Given the description of an element on the screen output the (x, y) to click on. 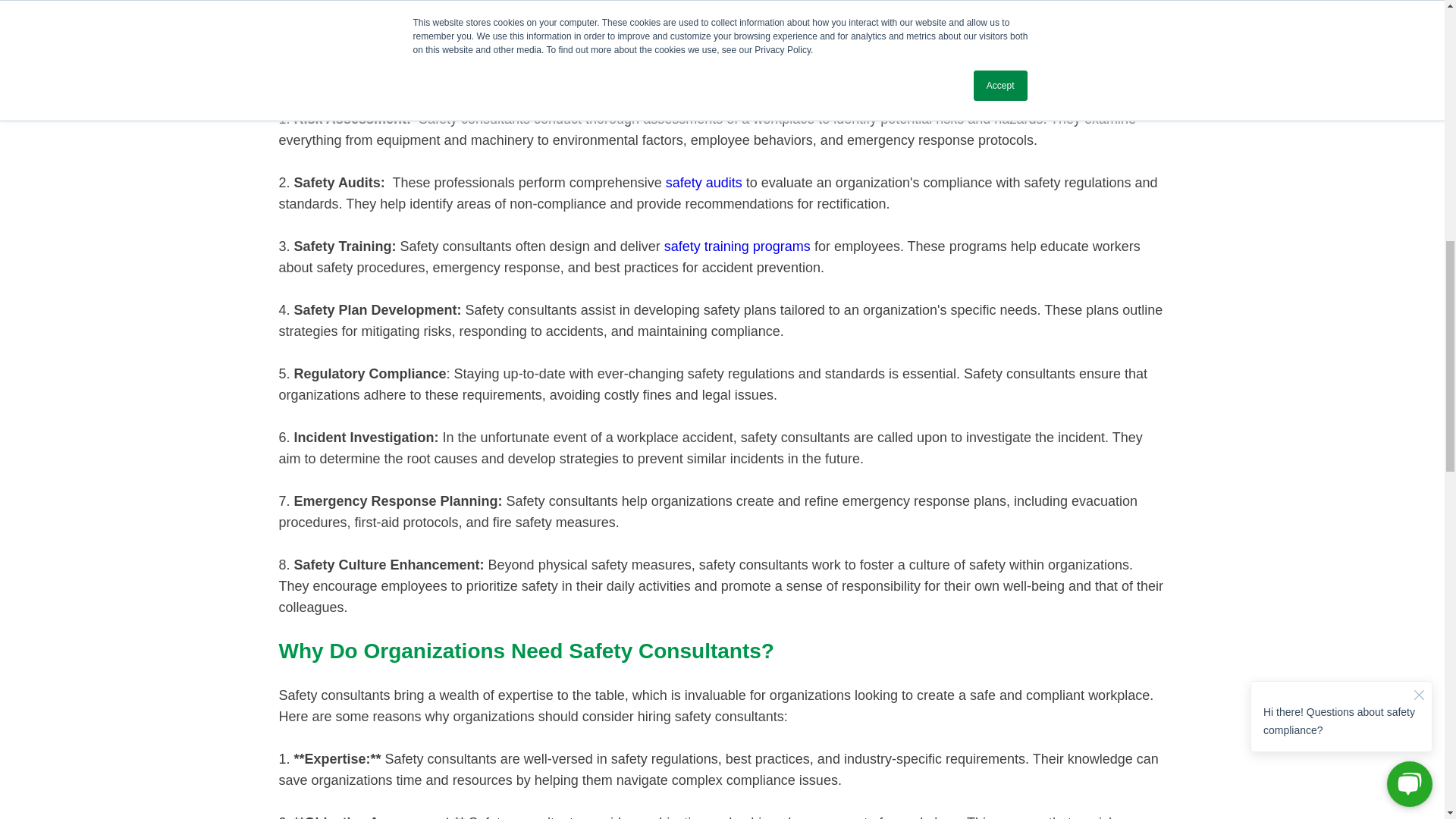
safety audits (703, 182)
safety training programs (736, 246)
